Given the description of an element on the screen output the (x, y) to click on. 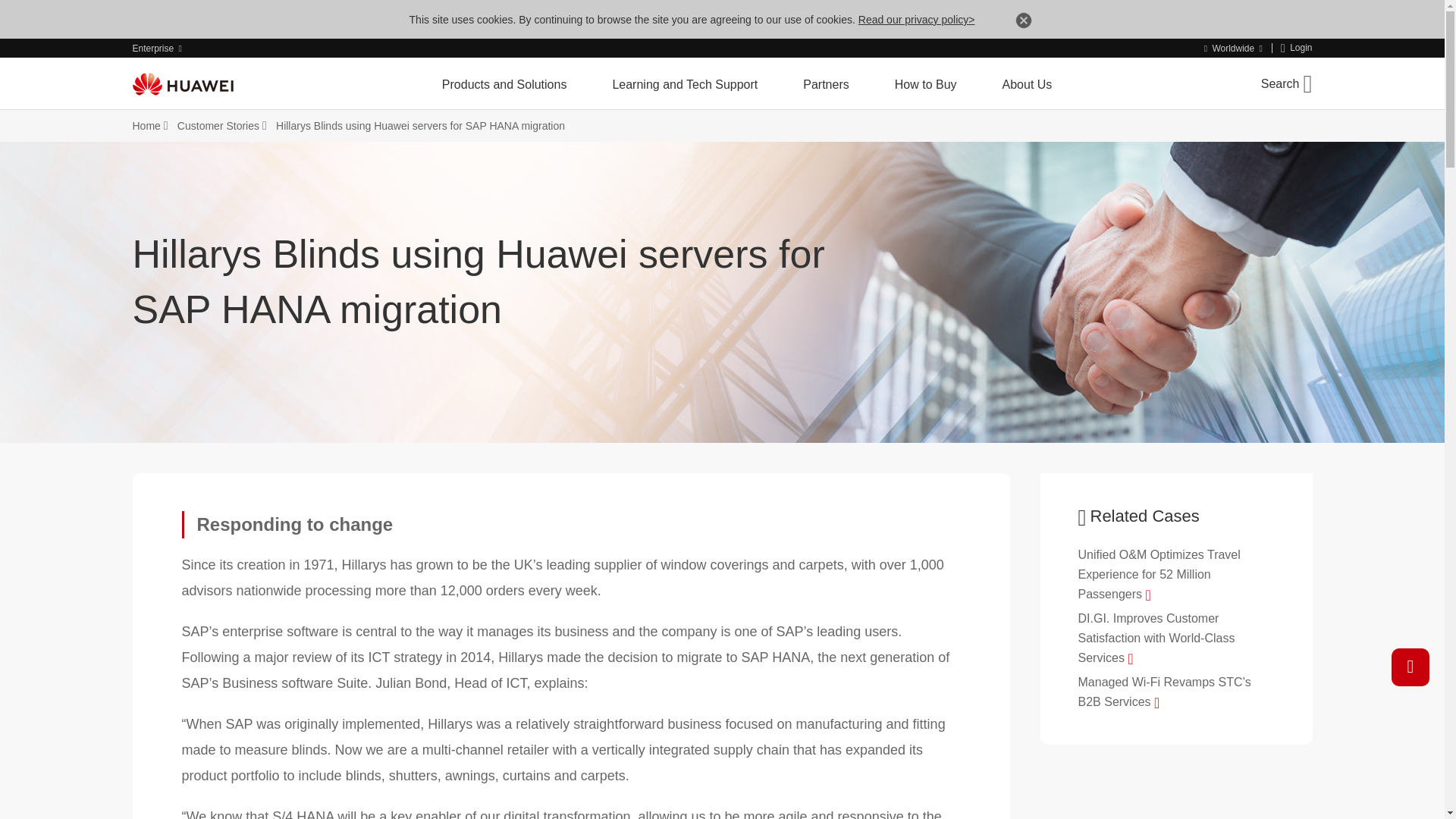
Login (1296, 48)
Huawei (182, 83)
Close (1023, 22)
